Given the description of an element on the screen output the (x, y) to click on. 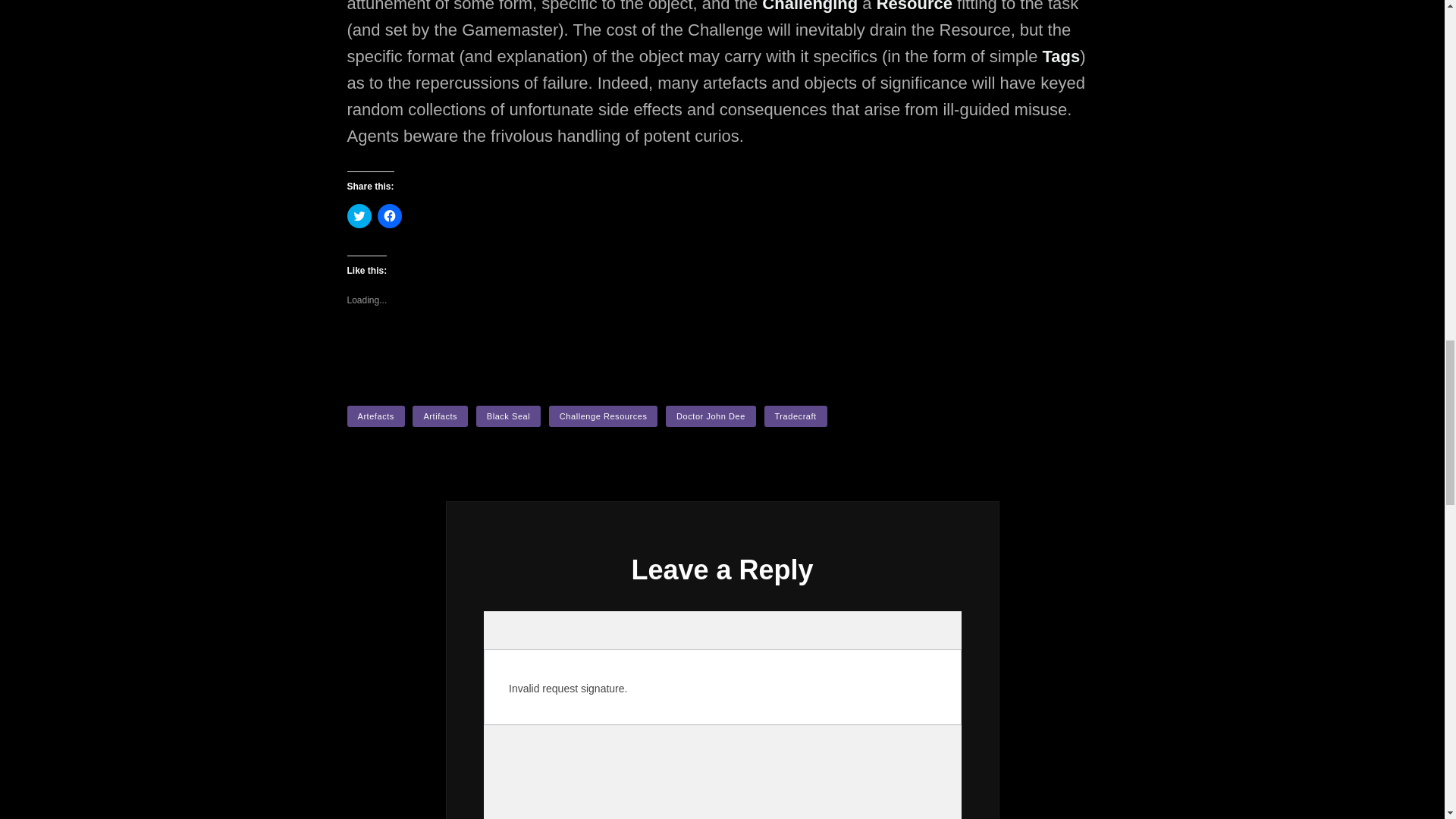
Black Seal (508, 415)
Challenge Resources (603, 415)
Click to share on Facebook (389, 215)
Doctor John Dee (710, 415)
Tradecraft (795, 415)
Artifacts (439, 415)
Like or Reblog (722, 347)
Click to share on Twitter (359, 215)
Artefacts (375, 415)
Comment Form (721, 714)
